Given the description of an element on the screen output the (x, y) to click on. 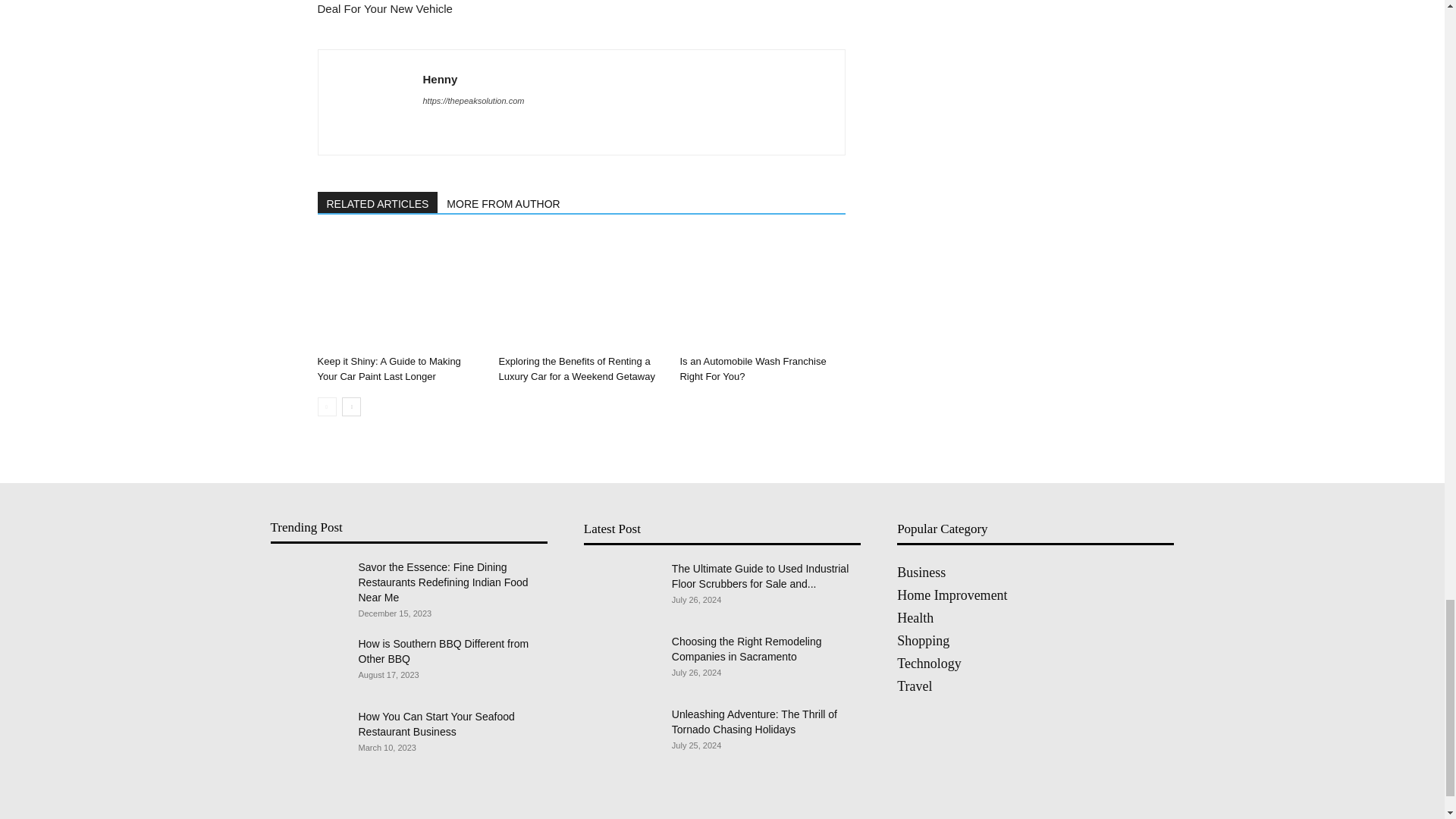
Keep it Shiny: A Guide to Making Your Car Paint Last Longer (388, 368)
Keep it Shiny: A Guide to Making Your Car Paint Last Longer (399, 291)
